Given the description of an element on the screen output the (x, y) to click on. 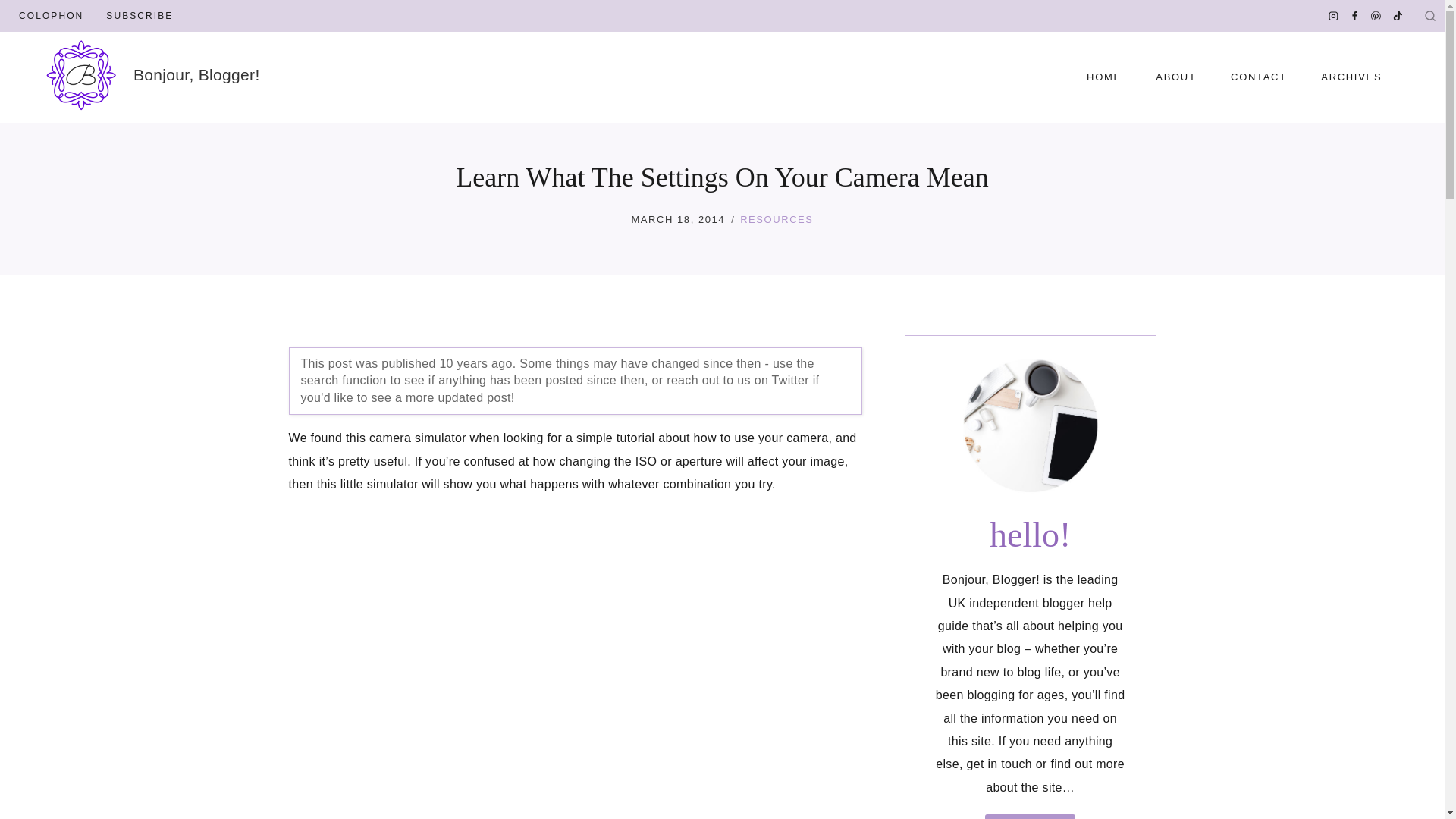
RESOURCES (775, 219)
HOME (1103, 77)
ARCHIVES (1351, 77)
COLOPHON (50, 16)
ABOUT (1176, 77)
Bonjour, Blogger! (152, 74)
CONTACT (1257, 77)
SUBSCRIBE (139, 16)
